Given the description of an element on the screen output the (x, y) to click on. 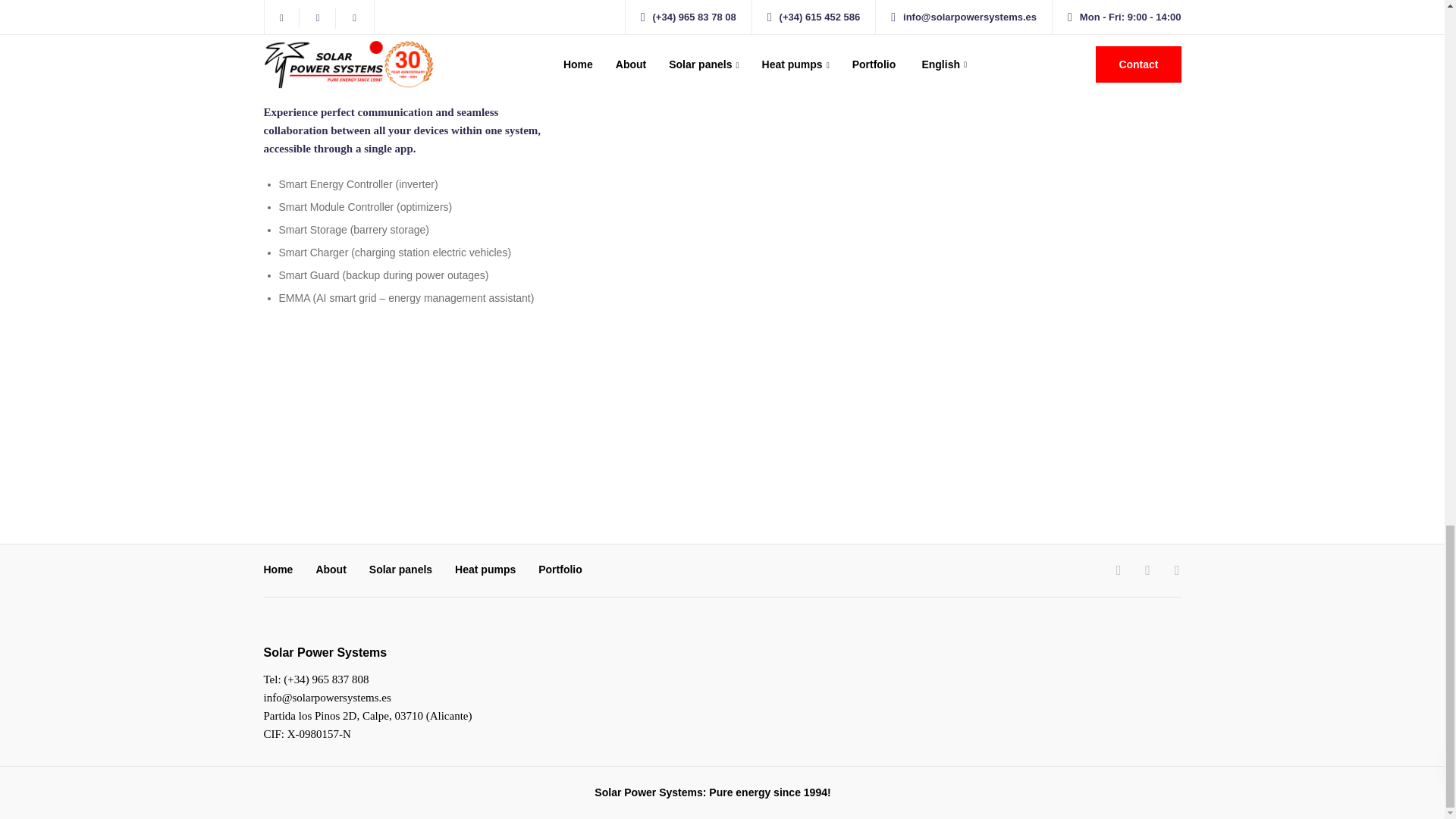
About (330, 571)
Home (278, 571)
Heat pumps (484, 571)
Solar panels (400, 571)
Portfolio (560, 571)
